Given the description of an element on the screen output the (x, y) to click on. 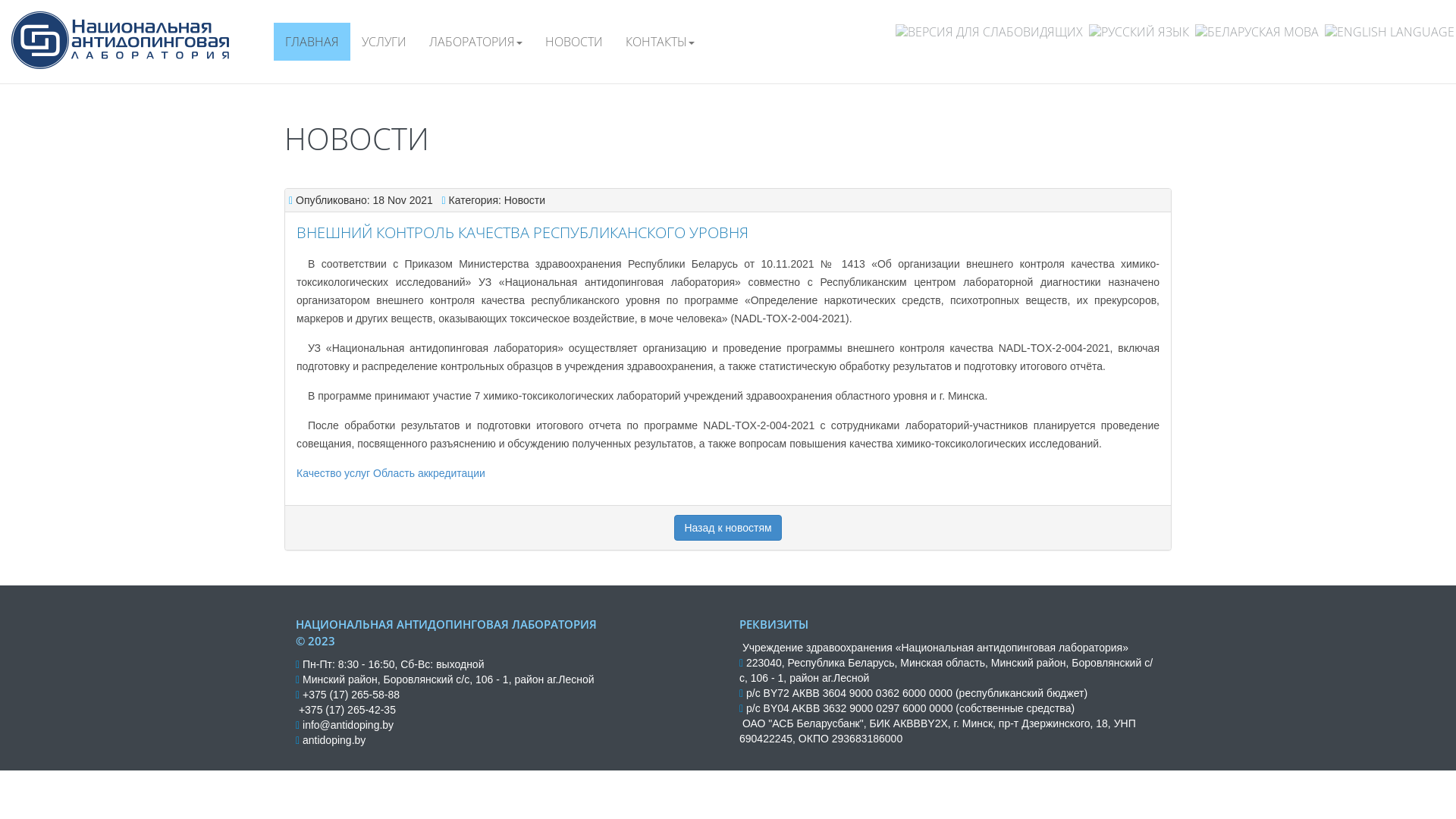
antidoping.by Element type: text (333, 740)
+375 (17) 265-42-35 Element type: text (346, 709)
info@antidoping.by Element type: text (347, 724)
English language Element type: hover (1389, 31)
+375 (17) 265-58-88 Element type: text (350, 694)
